Given the description of an element on the screen output the (x, y) to click on. 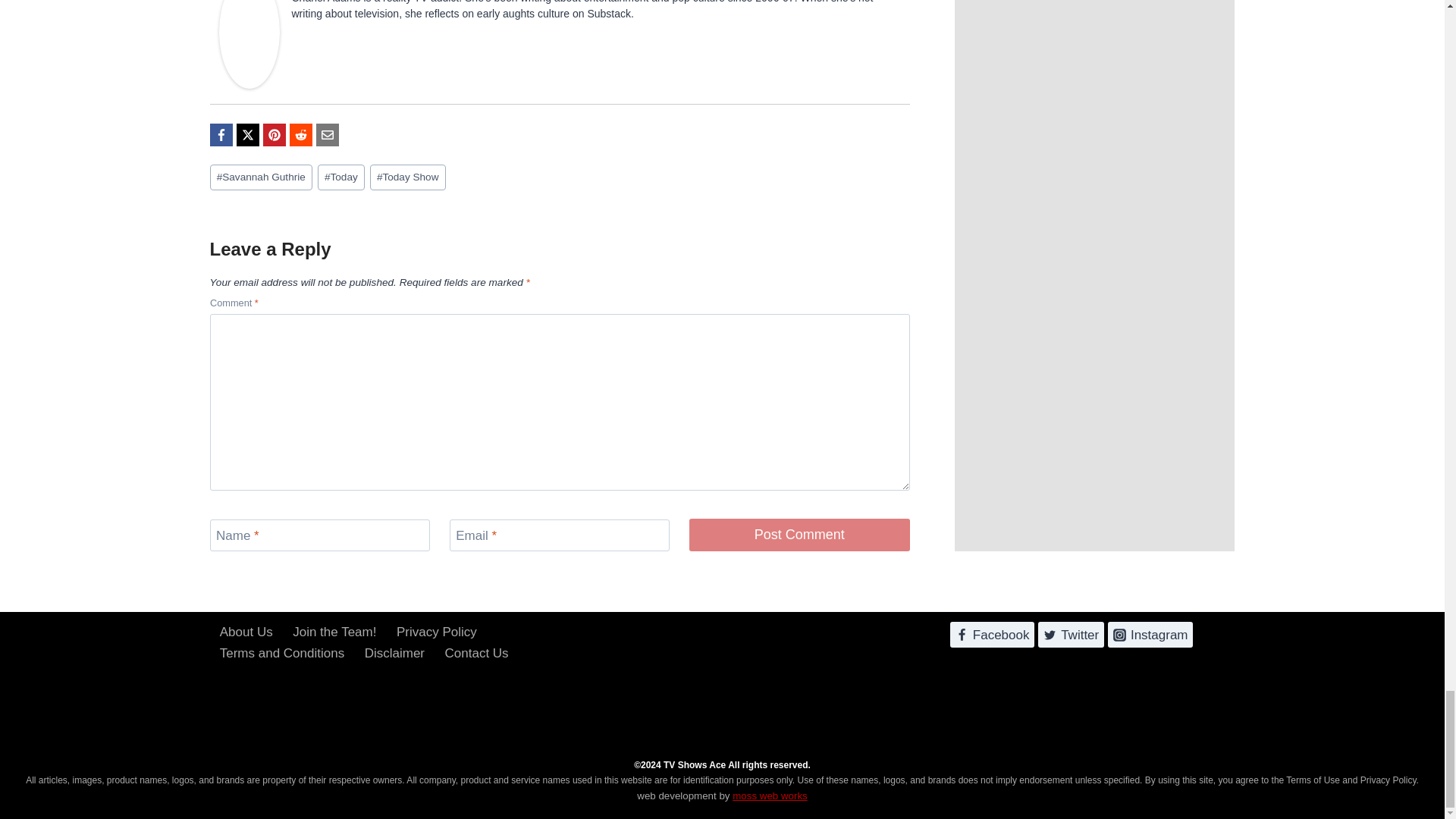
Post Comment (799, 534)
Post Comment (799, 534)
Savannah Guthrie (260, 177)
Chanel Adams (248, 44)
Today (341, 177)
Today Show (407, 177)
